Given the description of an element on the screen output the (x, y) to click on. 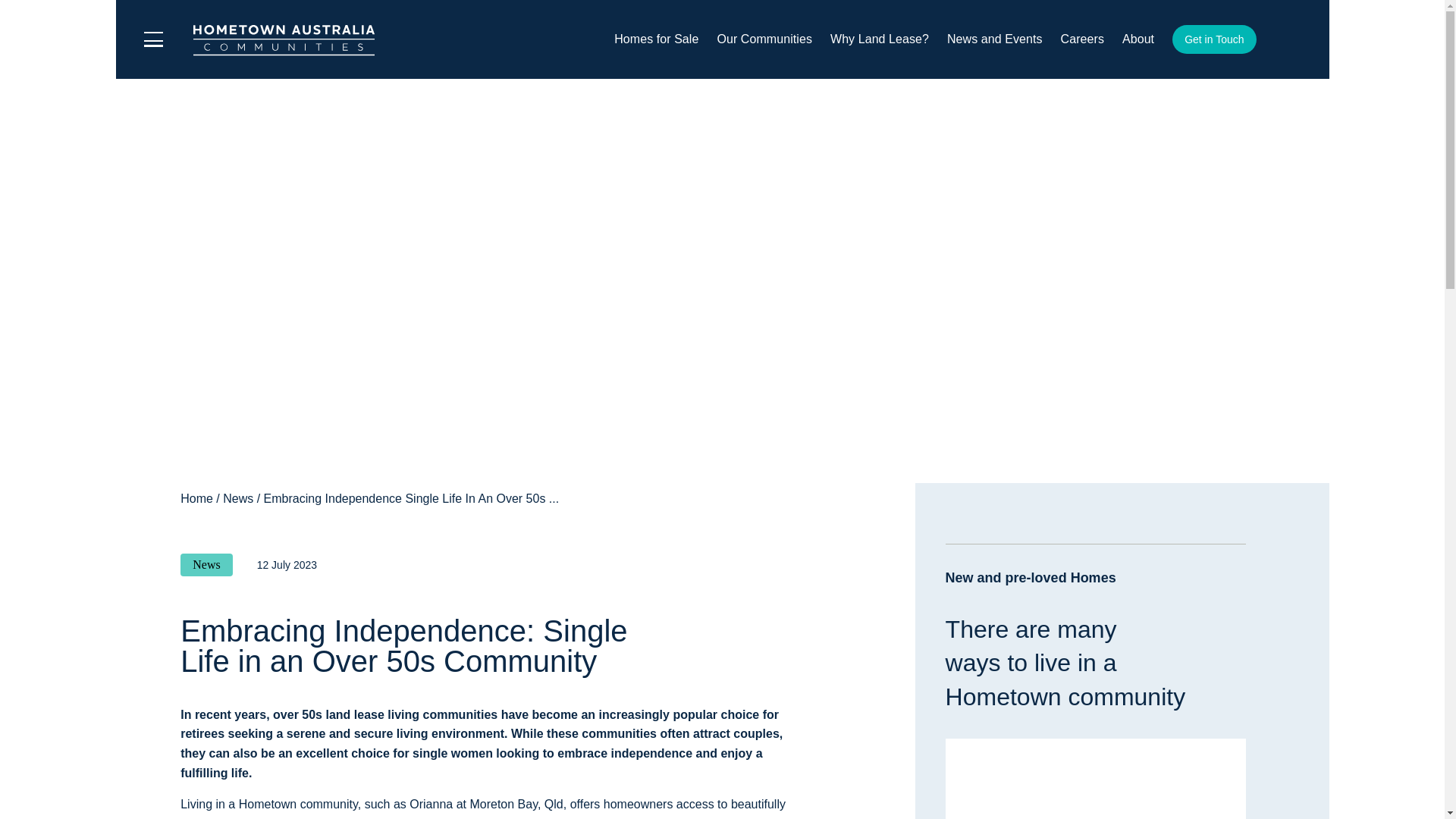
Our Communities (764, 39)
News and Events (994, 38)
Homes for Sale (656, 39)
Home (196, 498)
Why Land Lease? (878, 39)
Get in Touch (1213, 39)
About (1138, 39)
News (237, 498)
Careers (1082, 38)
